Given the description of an element on the screen output the (x, y) to click on. 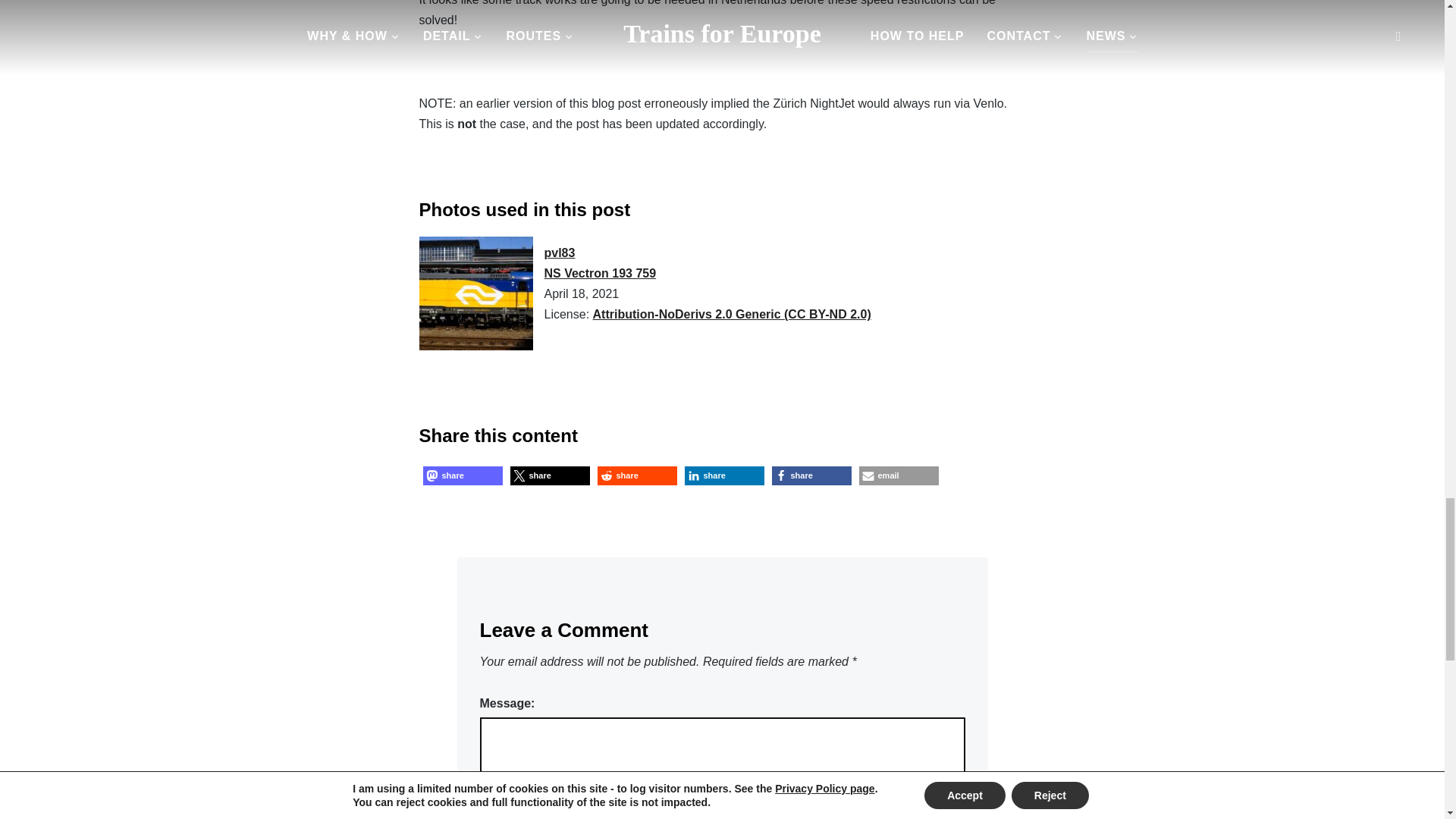
Share on X (549, 475)
Share on Reddit (636, 475)
Share on Mastodon (462, 475)
Send by email (898, 475)
Share on LinkedIn (723, 475)
Share on Facebook (811, 475)
